Given the description of an element on the screen output the (x, y) to click on. 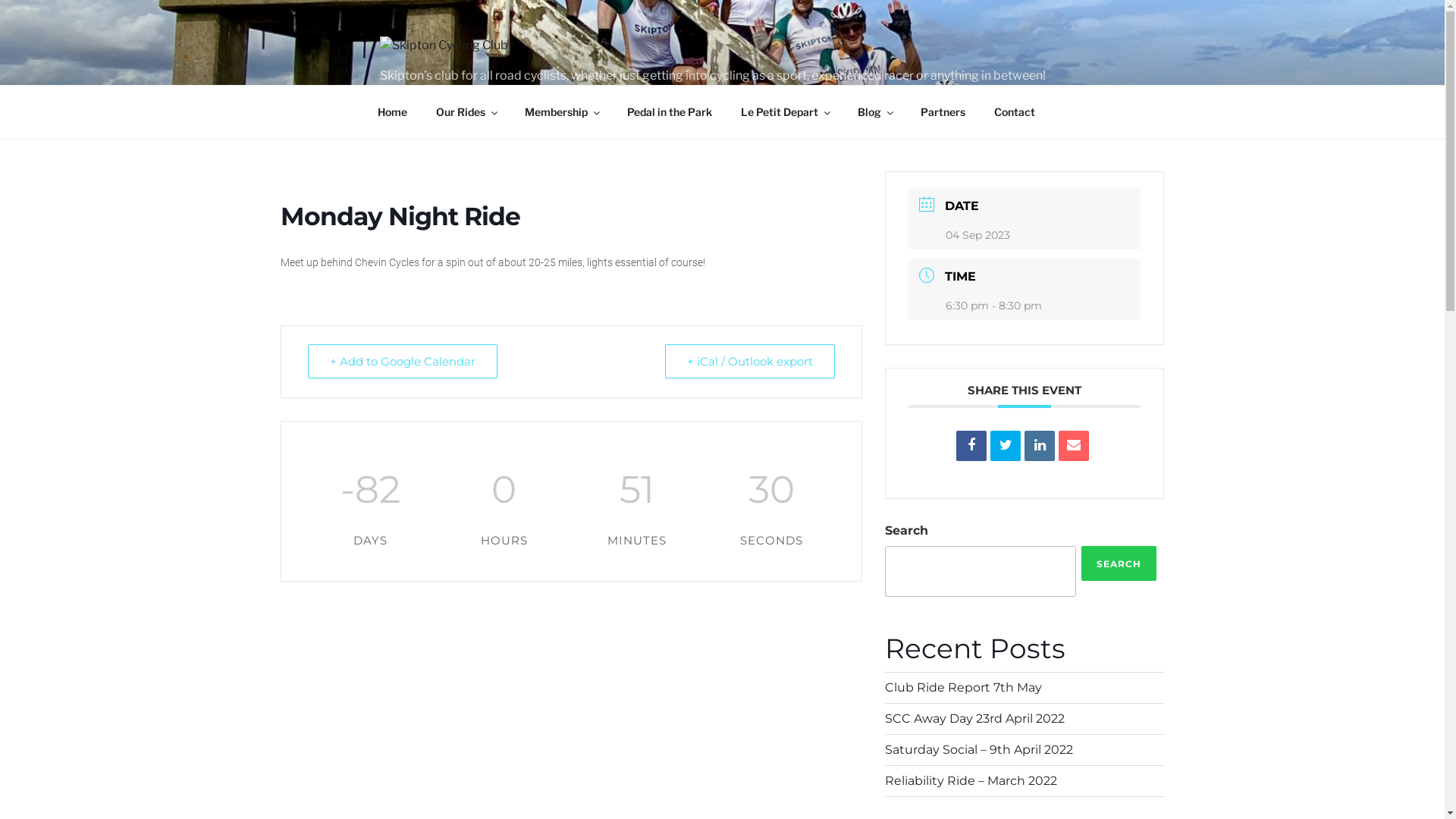
Home Element type: text (392, 111)
Partners Element type: text (942, 111)
Le Petit Depart Element type: text (785, 111)
Membership Element type: text (561, 111)
Linkedin Element type: hover (1039, 445)
Club Ride Report 7th May Element type: text (962, 687)
Email Element type: hover (1073, 445)
Our Rides Element type: text (466, 111)
Pedal in the Park Element type: text (669, 111)
Share on Facebook Element type: hover (971, 445)
Contact Element type: text (1014, 111)
Tweet Element type: hover (1005, 445)
Blog Element type: text (874, 111)
SCC Away Day 23rd April 2022 Element type: text (974, 718)
+ iCal / Outlook export Element type: text (749, 361)
+ Add to Google Calendar Element type: text (402, 361)
SEARCH Element type: text (1118, 563)
